Given the description of an element on the screen output the (x, y) to click on. 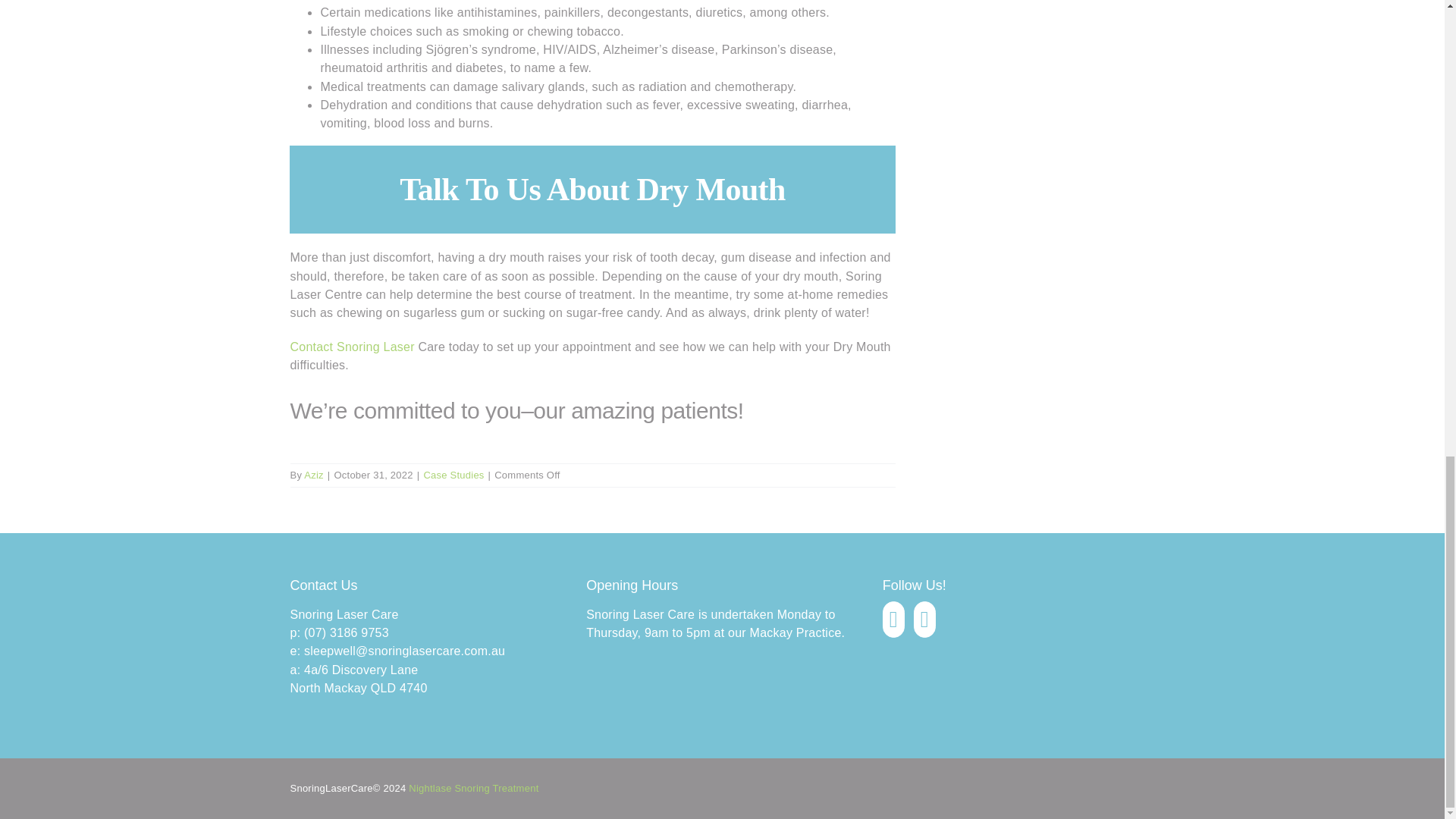
Contact Snoring Laser (351, 346)
Posts by Aziz (313, 474)
Nightlase Snoring Treatment (473, 787)
Aziz (313, 474)
Case Studies (453, 474)
